Given the description of an element on the screen output the (x, y) to click on. 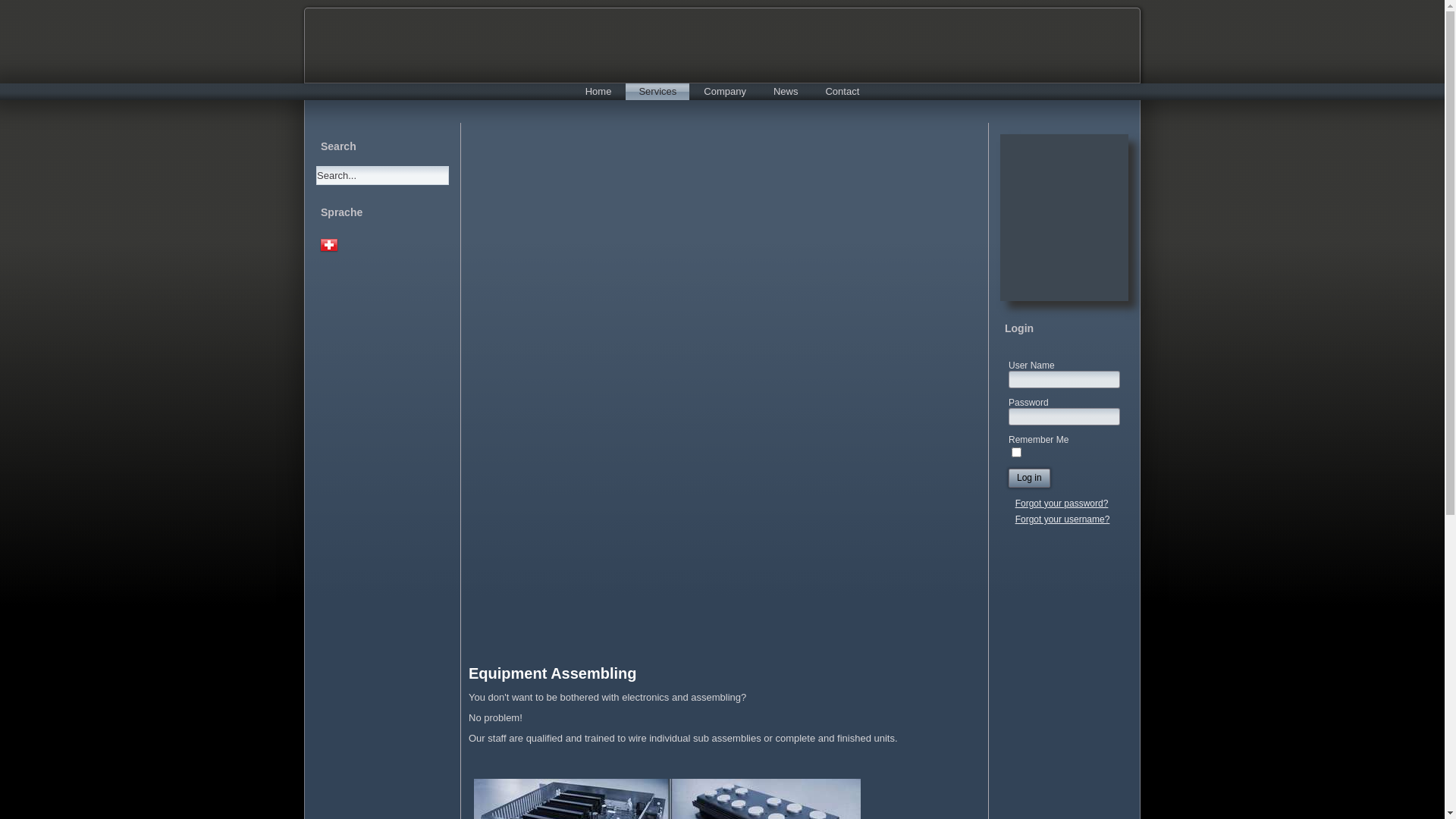
Services Element type: text (657, 91)
GermanDE-CH-AT Element type: hover (329, 244)
Forgot your username? Element type: text (1062, 519)
Contact Element type: text (842, 91)
News Element type: text (785, 91)
Company Element type: text (724, 91)
Home Element type: text (598, 91)
Equipment Assembling Element type: text (552, 673)
Forgot your password? Element type: text (1061, 503)
Log in Element type: text (1029, 477)
